Given the description of an element on the screen output the (x, y) to click on. 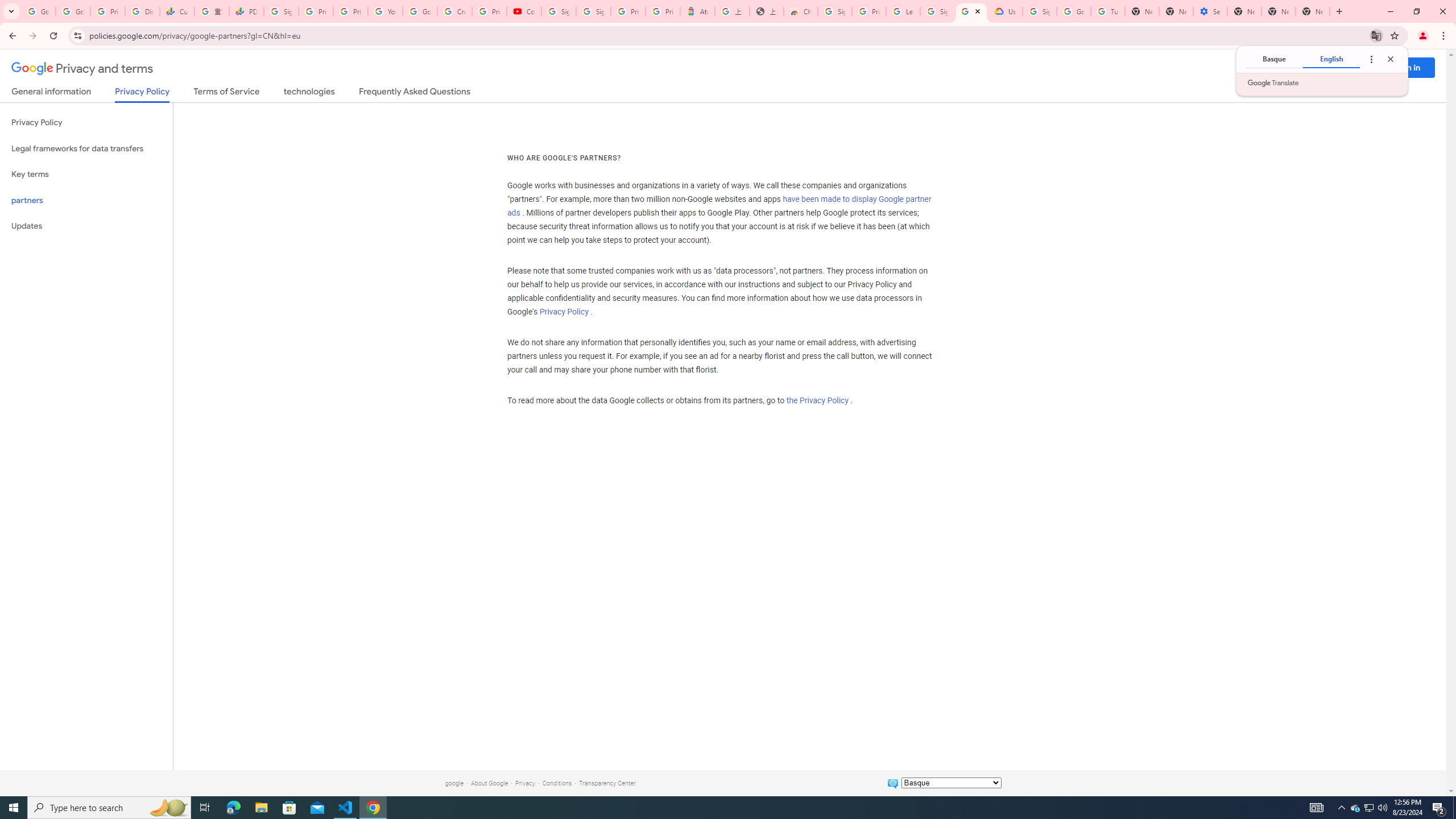
Action Center, 2 new notifications (1439, 807)
Microsoft Edge (1355, 807)
Legal frameworks for data transfers (233, 807)
Content Creator Programs & Opportunities - YouTube Creators (86, 148)
Q2790: 100% (524, 11)
Visual Studio Code - 1 running window (1382, 807)
